Given the description of an element on the screen output the (x, y) to click on. 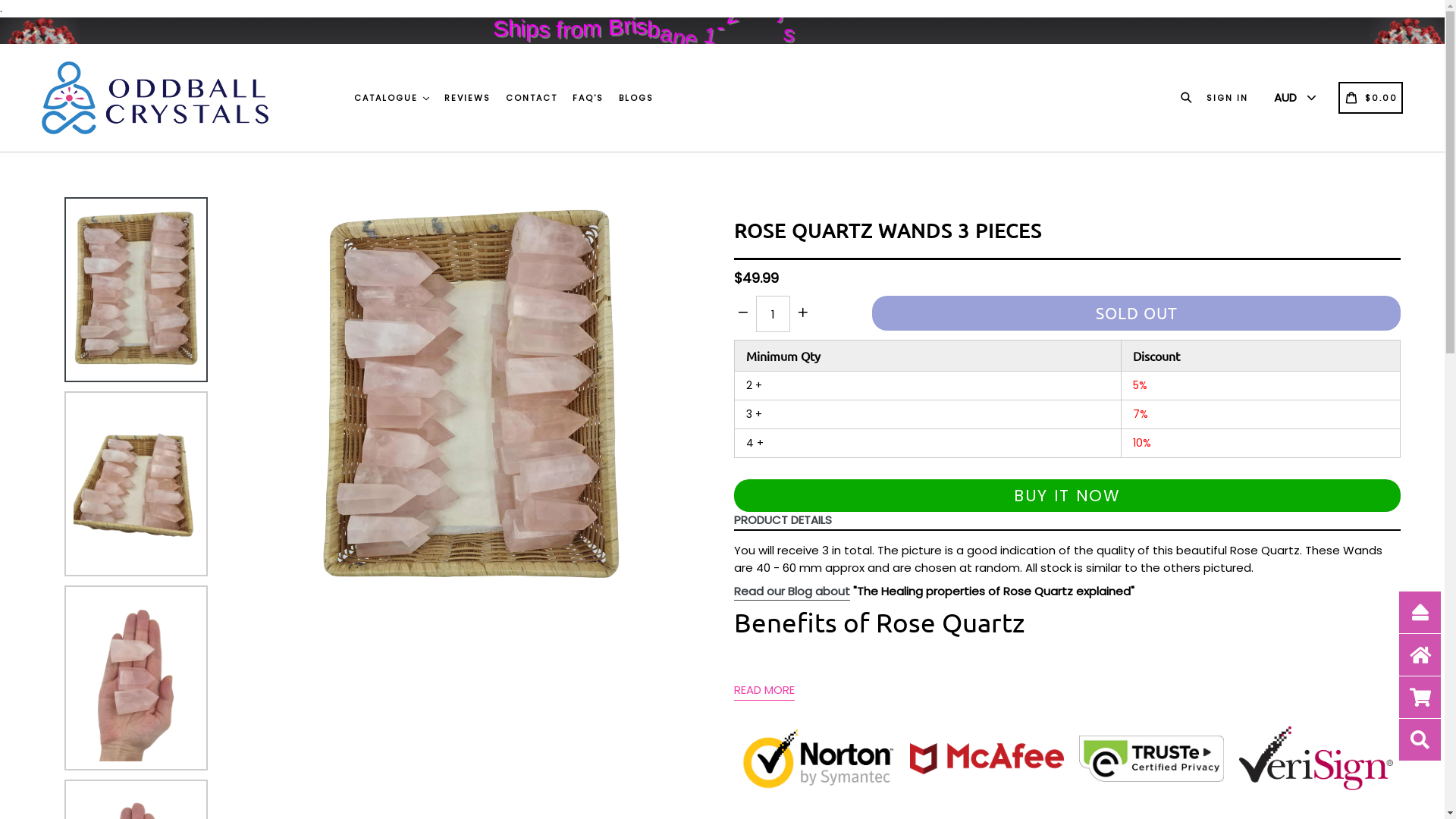
REVIEWS Element type: text (467, 97)
FAQ'S Element type: text (587, 97)
BUY IT NOW Element type: text (1067, 495)
Read our Blog about Element type: text (792, 591)
SOLD OUT Element type: text (1136, 312)
CONTACT Element type: text (531, 97)
READ MORE Element type: text (764, 690)
SIGN IN Element type: text (1227, 97)
PRODUCT DETAILS Element type: text (1063, 520)
CART
CART
$0.00 Element type: text (1370, 96)
BLOGS Element type: text (635, 97)
Search Element type: text (1189, 96)
